Given the description of an element on the screen output the (x, y) to click on. 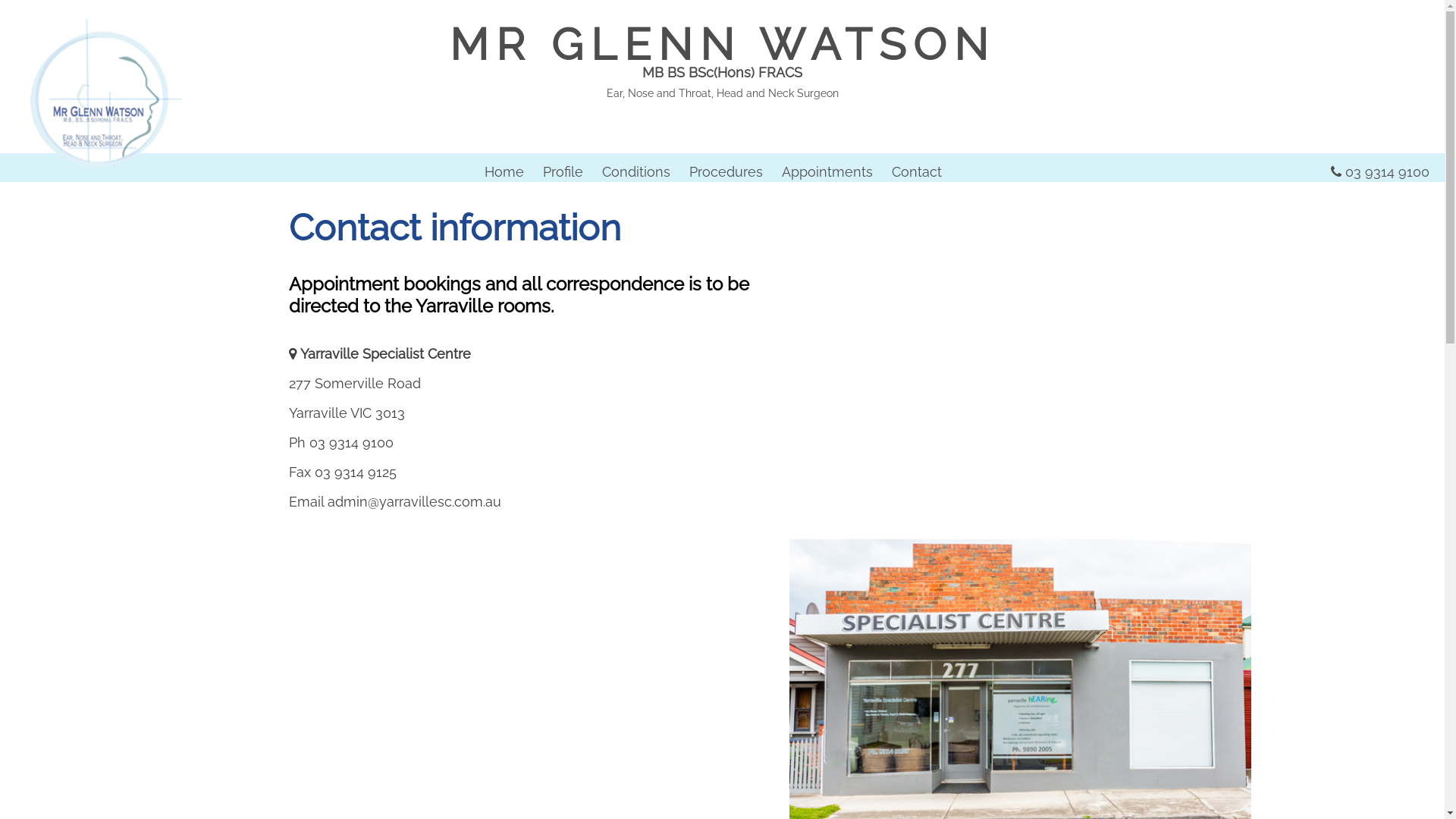
Procedures Element type: text (724, 171)
Conditions Element type: text (635, 171)
Appointments Element type: text (826, 171)
Contact Element type: text (916, 171)
Home Element type: text (503, 171)
Profile Element type: text (562, 171)
